Given the description of an element on the screen output the (x, y) to click on. 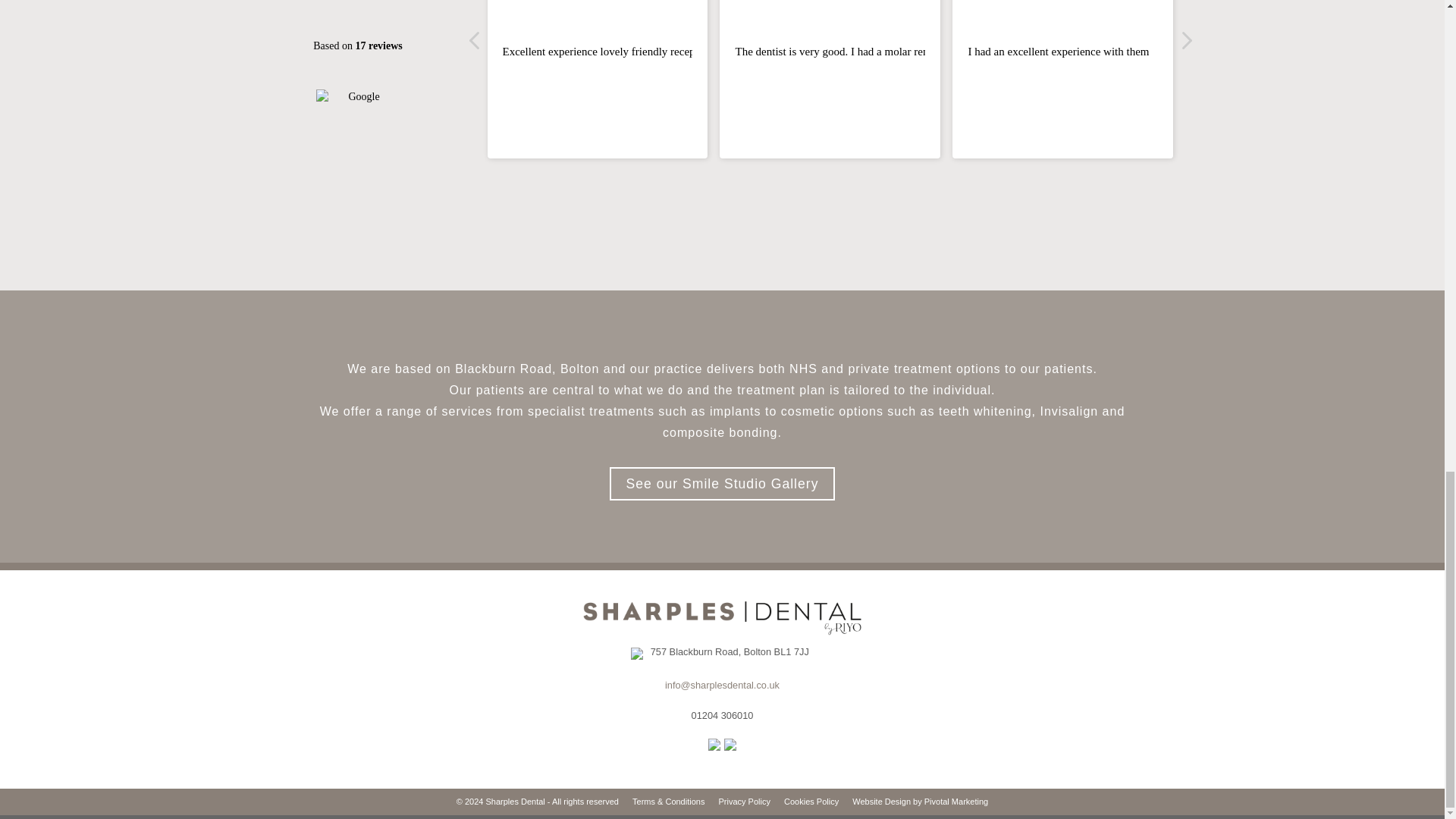
Privacy Policy (743, 800)
Website Design by Pivotal Marketing (919, 800)
Cookies Policy (811, 800)
See our Smile Studio Gallery (722, 483)
